Given the description of an element on the screen output the (x, y) to click on. 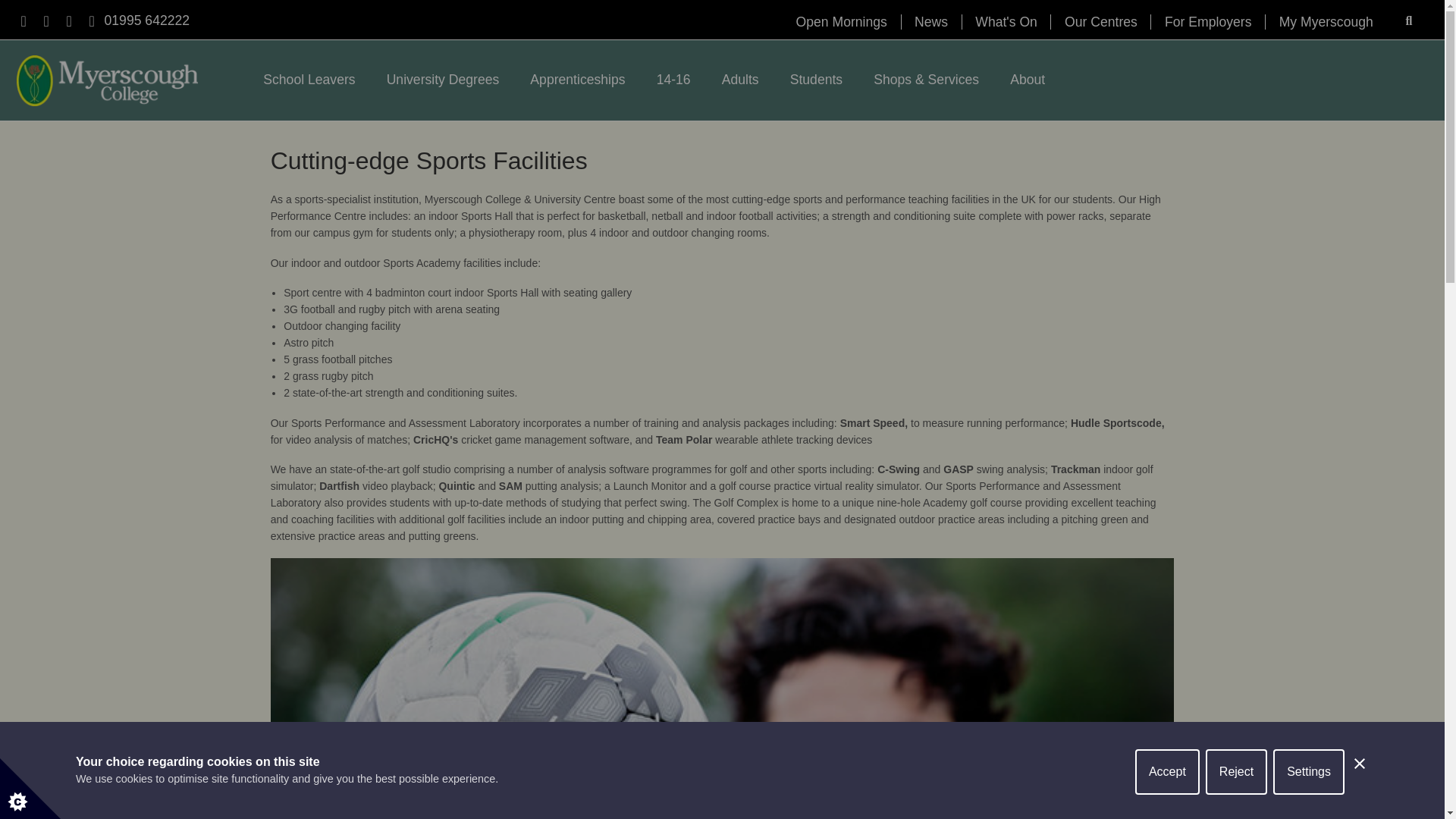
Settings (1307, 808)
Phone (147, 20)
Email (91, 21)
Reject (1235, 817)
